Given the description of an element on the screen output the (x, y) to click on. 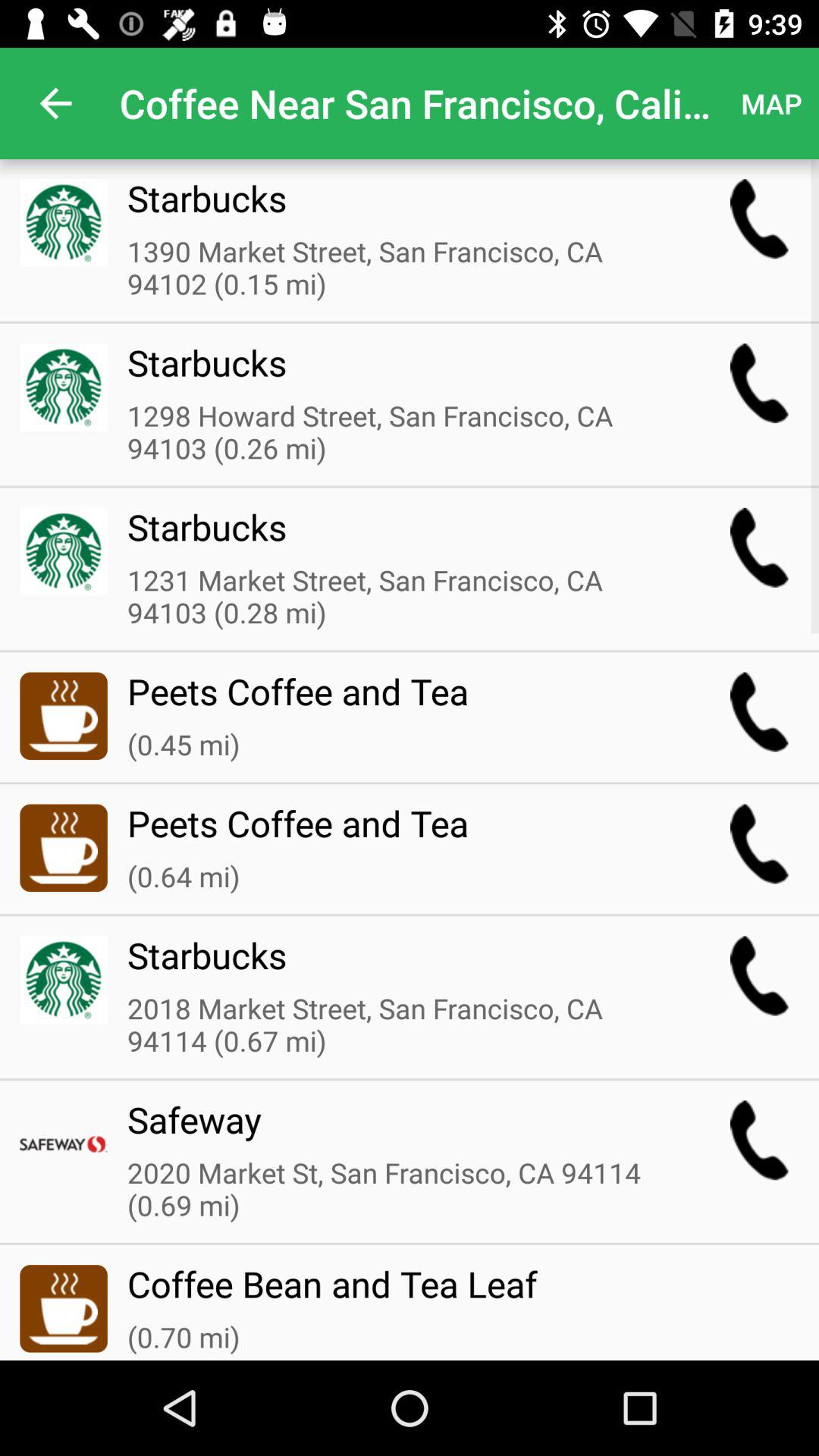
turn off item to the left of coffee near san (55, 103)
